Given the description of an element on the screen output the (x, y) to click on. 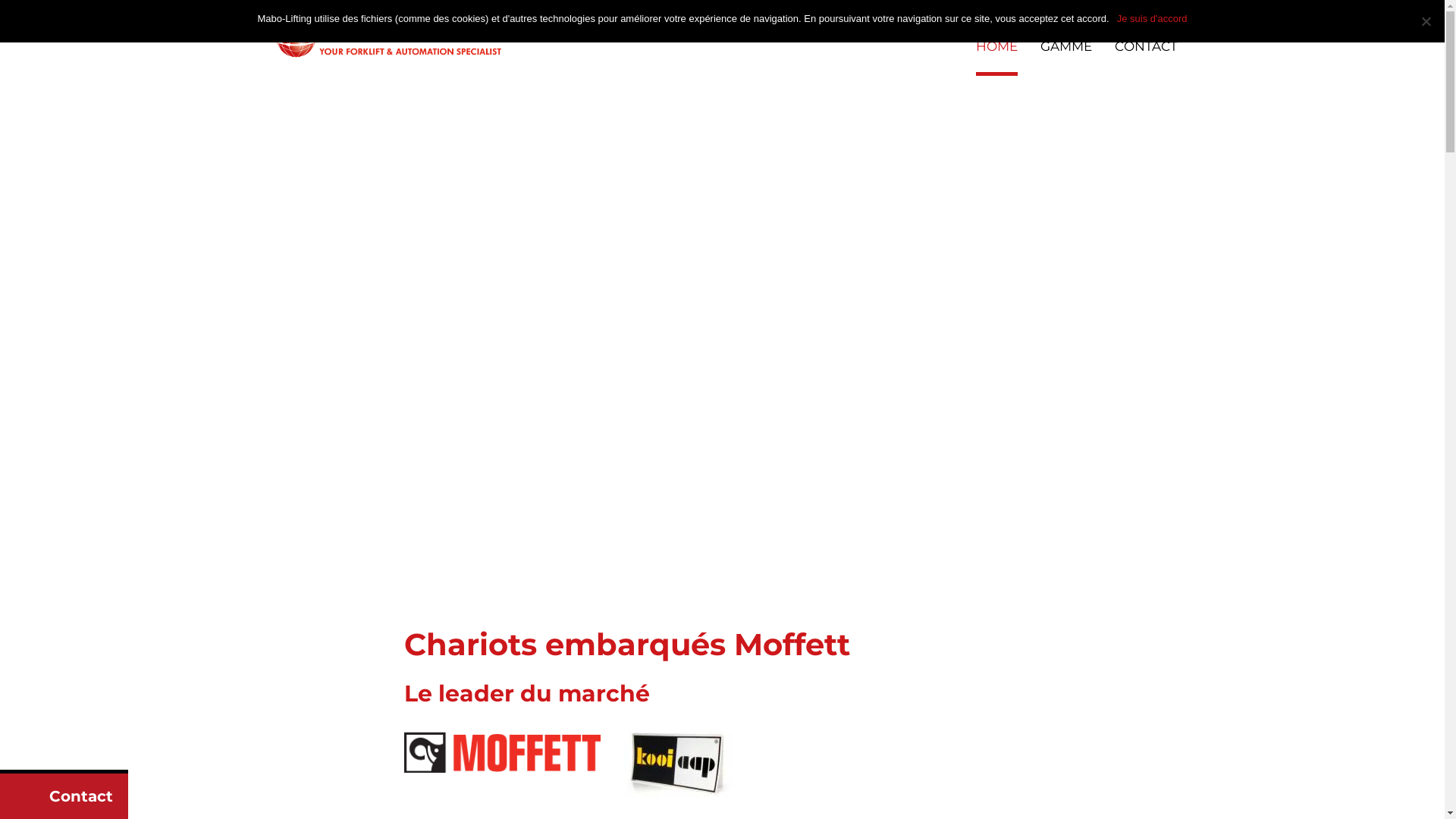
Nee Element type: hover (1425, 20)
Je suis d'accord Element type: text (1152, 18)
GAMME Element type: text (1066, 57)
CONTACT Element type: text (1145, 57)
kooiaap Element type: hover (680, 764)
Moffett Element type: hover (501, 751)
Chariot embarque Element type: hover (387, 37)
HOME Element type: text (995, 57)
